Given the description of an element on the screen output the (x, y) to click on. 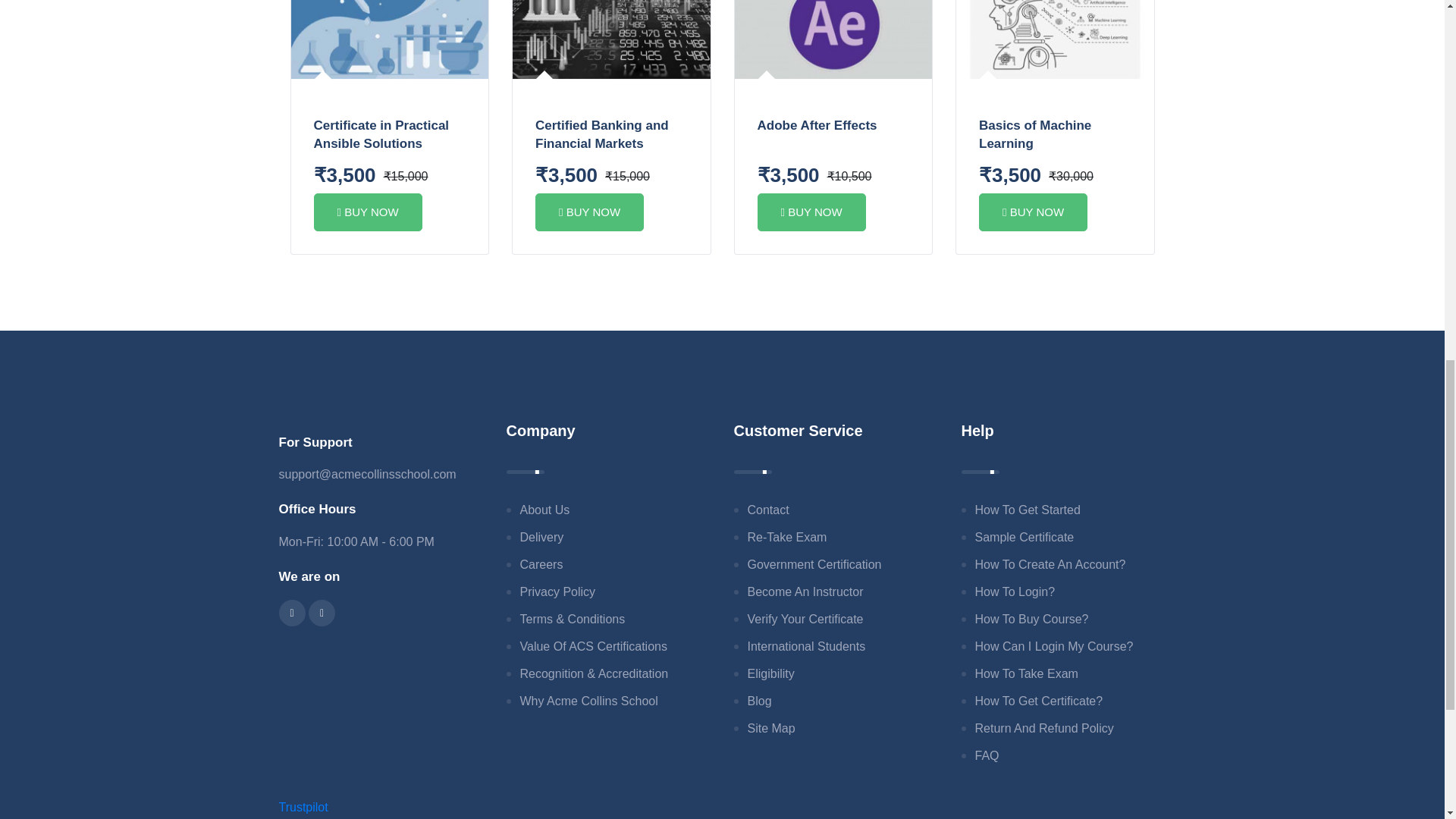
About Us (544, 509)
BUY NOW (810, 211)
Certificate in Practical Ansible Solutions (381, 133)
BUY NOW (368, 211)
Delivery (541, 536)
Certified Banking and Financial Markets (601, 133)
BUY NOW (589, 211)
Basics of Machine Learning (1034, 133)
BUY NOW (1032, 211)
Adobe After Effects (816, 124)
